Given the description of an element on the screen output the (x, y) to click on. 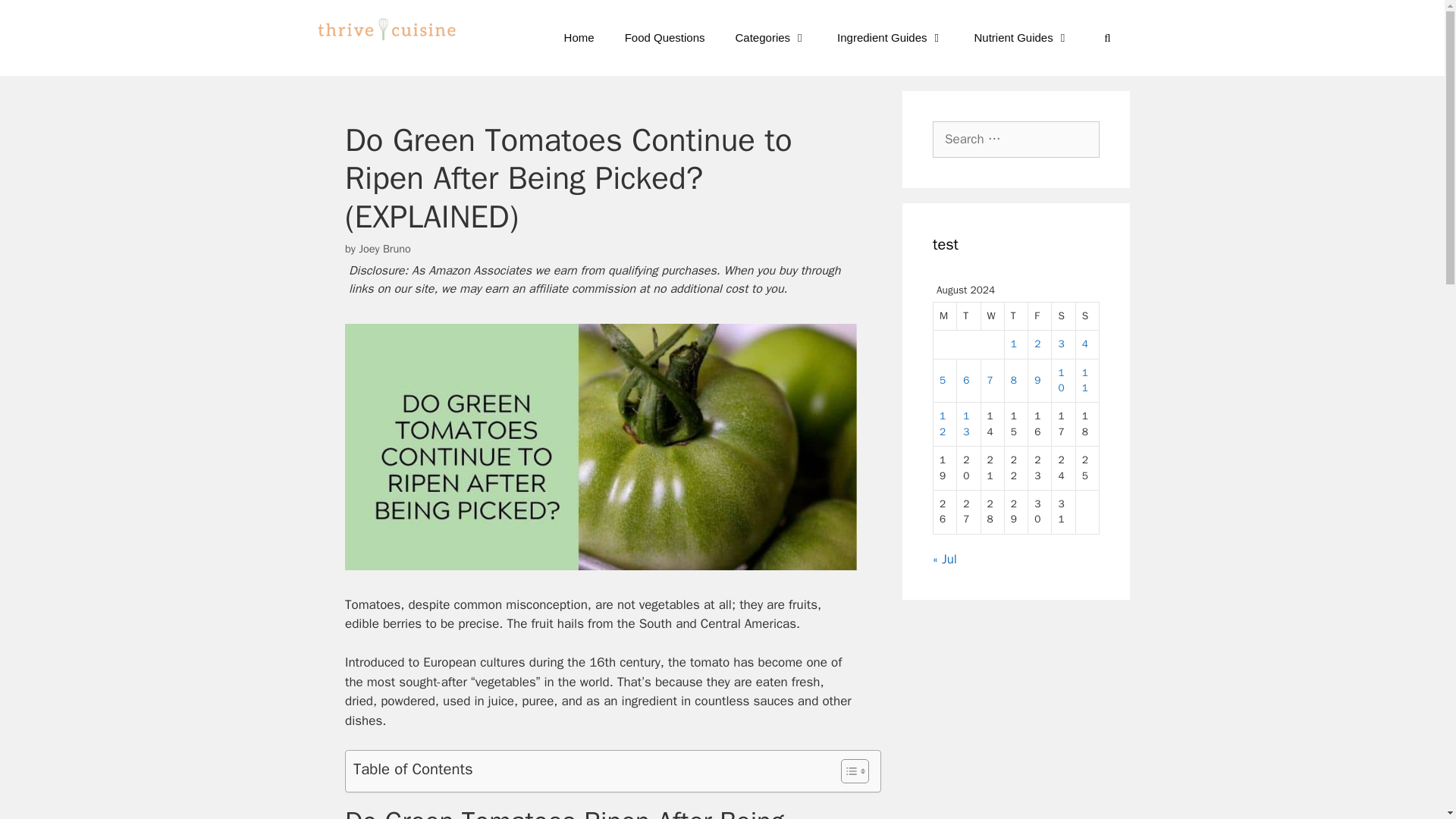
Home (579, 37)
Search for: (1016, 139)
Categories (771, 37)
Food Questions (665, 37)
View all posts by Joey Bruno (384, 248)
